Given the description of an element on the screen output the (x, y) to click on. 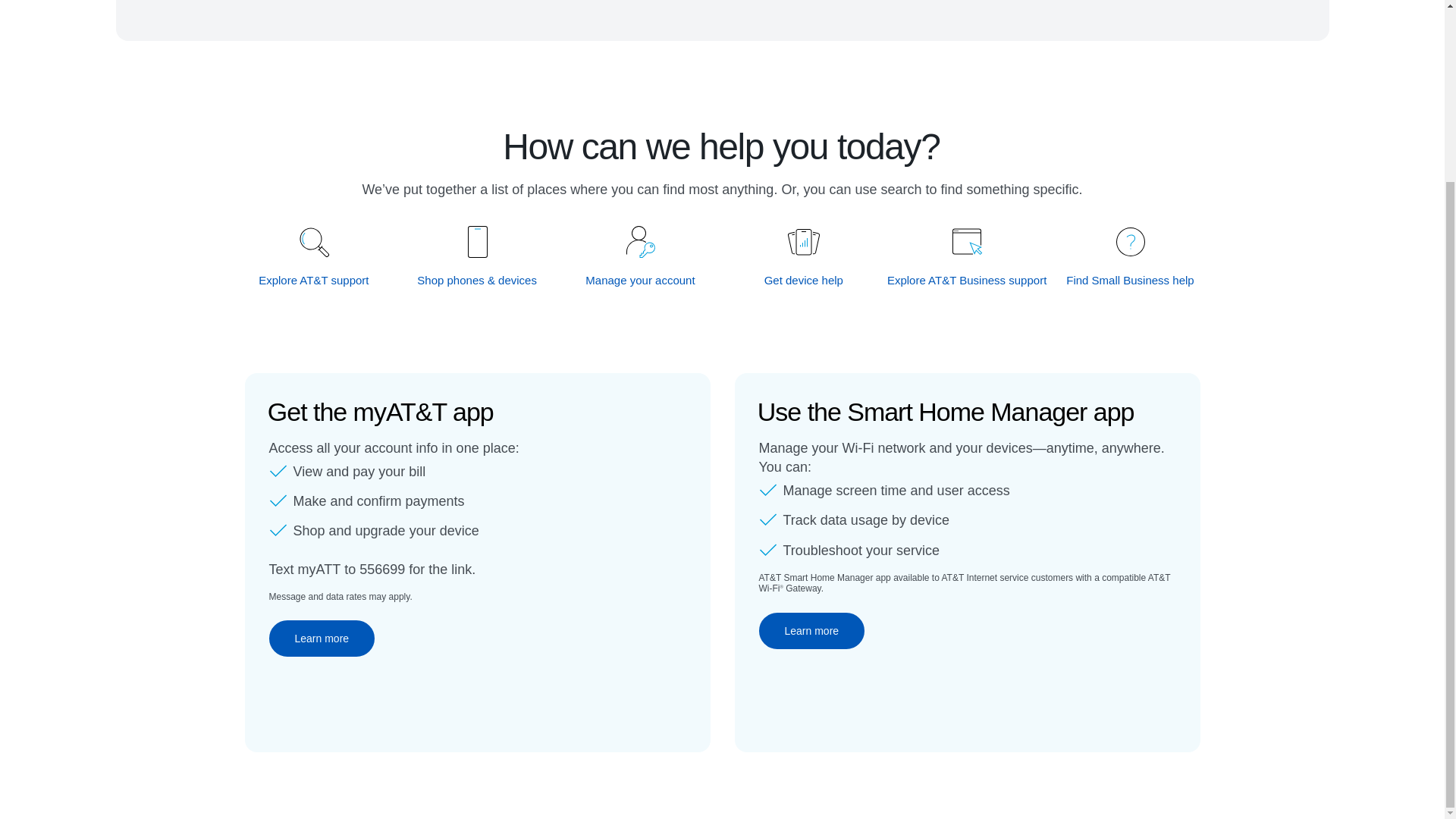
Find Small Business help (1130, 279)
Get device help (803, 279)
Learn more (320, 637)
Manage your account (640, 279)
Learn more (811, 630)
